Given the description of an element on the screen output the (x, y) to click on. 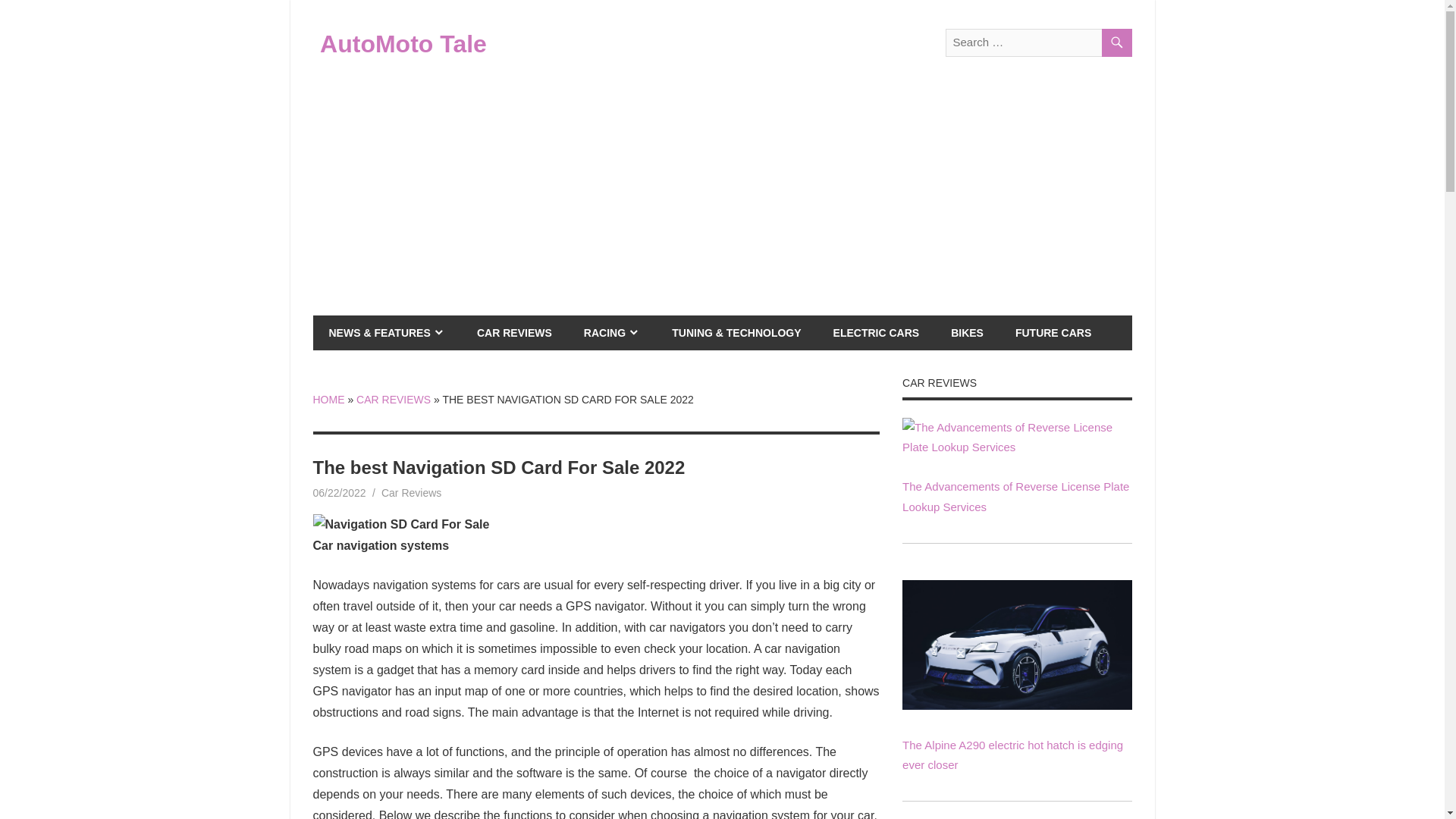
The Alpine A290 electric hot hatch is edging ever closer (1012, 754)
AutoMoto Tale (403, 43)
ELECTRIC CARS (876, 332)
The Advancements of Reverse License Plate Lookup Services (1015, 495)
CAR REVIEWS (393, 399)
The Advancements of Reverse License Plate Lookup Services (1016, 446)
Car Reviews (411, 492)
View all posts by KiraNews (400, 492)
The Alpine A290 electric hot hatch is edging ever closer (1016, 644)
The Alpine A290 electric hot hatch is edging ever closer (1016, 705)
